Given the description of an element on the screen output the (x, y) to click on. 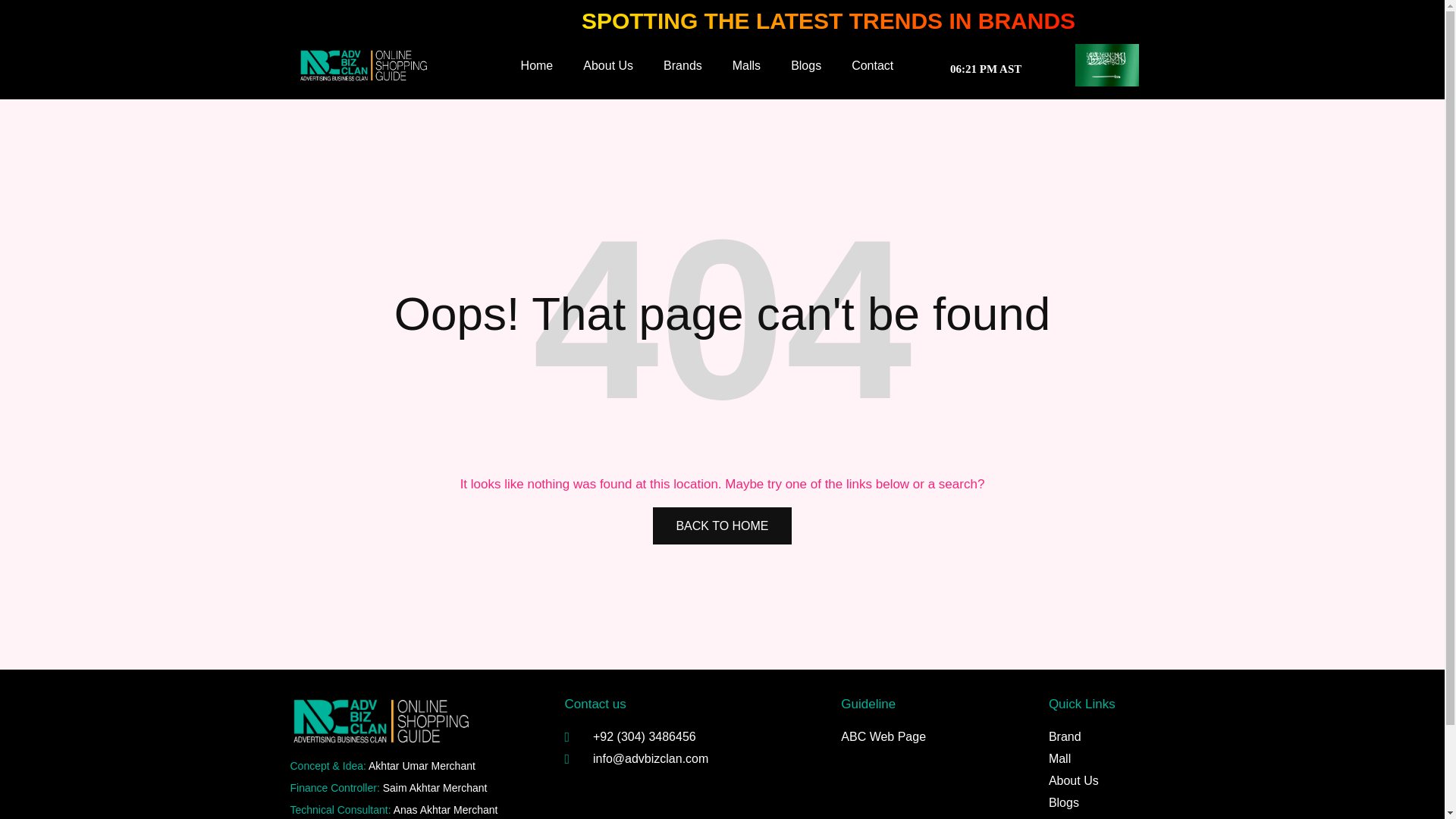
Home (537, 65)
About Us (1094, 781)
Malls (746, 65)
About Us (608, 65)
BACK TO HOME (721, 525)
Brand (1094, 737)
Blogs (805, 65)
Contact (872, 65)
Brands (682, 65)
Blogs (1094, 802)
